Given the description of an element on the screen output the (x, y) to click on. 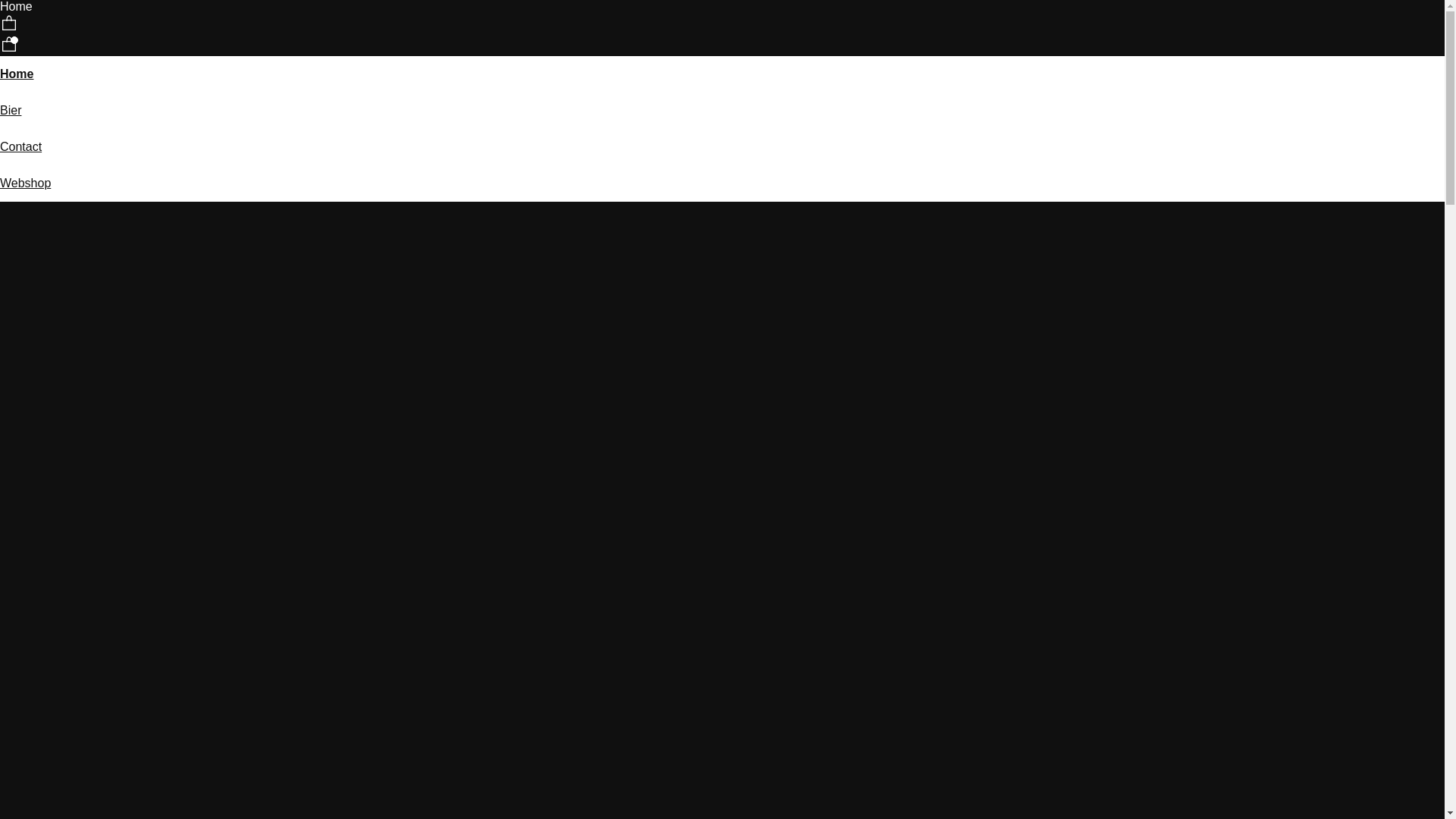
Bier Element type: text (10, 109)
Webshop Element type: text (25, 182)
Contact Element type: text (20, 146)
Home Element type: text (16, 73)
